Given the description of an element on the screen output the (x, y) to click on. 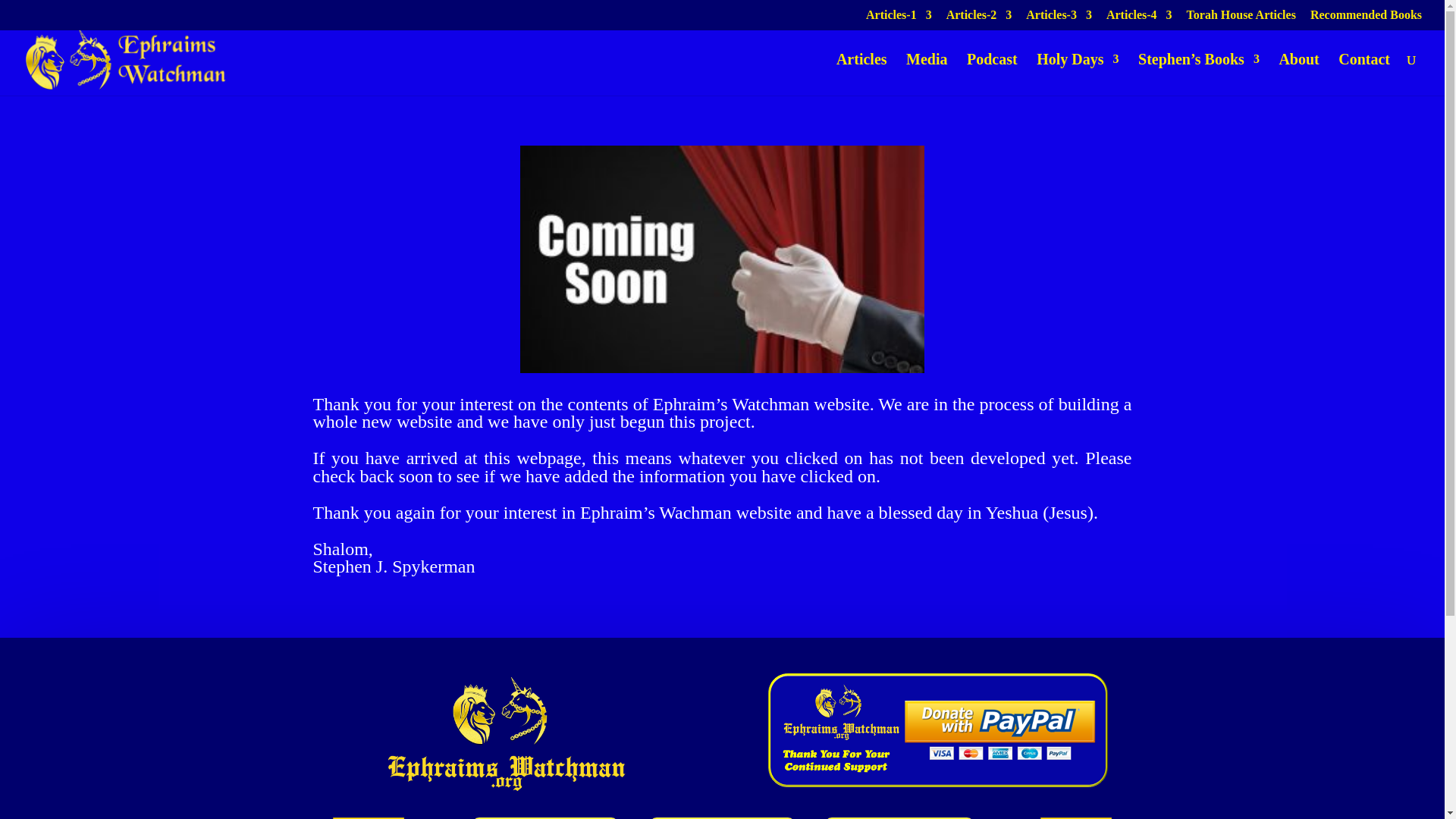
PayPal Donate (938, 730)
15 Articles Here (978, 19)
15 Articles Here (1059, 19)
Coming Soon (721, 259)
15 Articles Here (898, 19)
10 Articles Here (1139, 19)
Articles-2 (978, 19)
Articles-1 (898, 19)
Ephraims Watchman logo New Brighter (506, 733)
Contact Ephraim's Watchman (1076, 818)
